Given the description of an element on the screen output the (x, y) to click on. 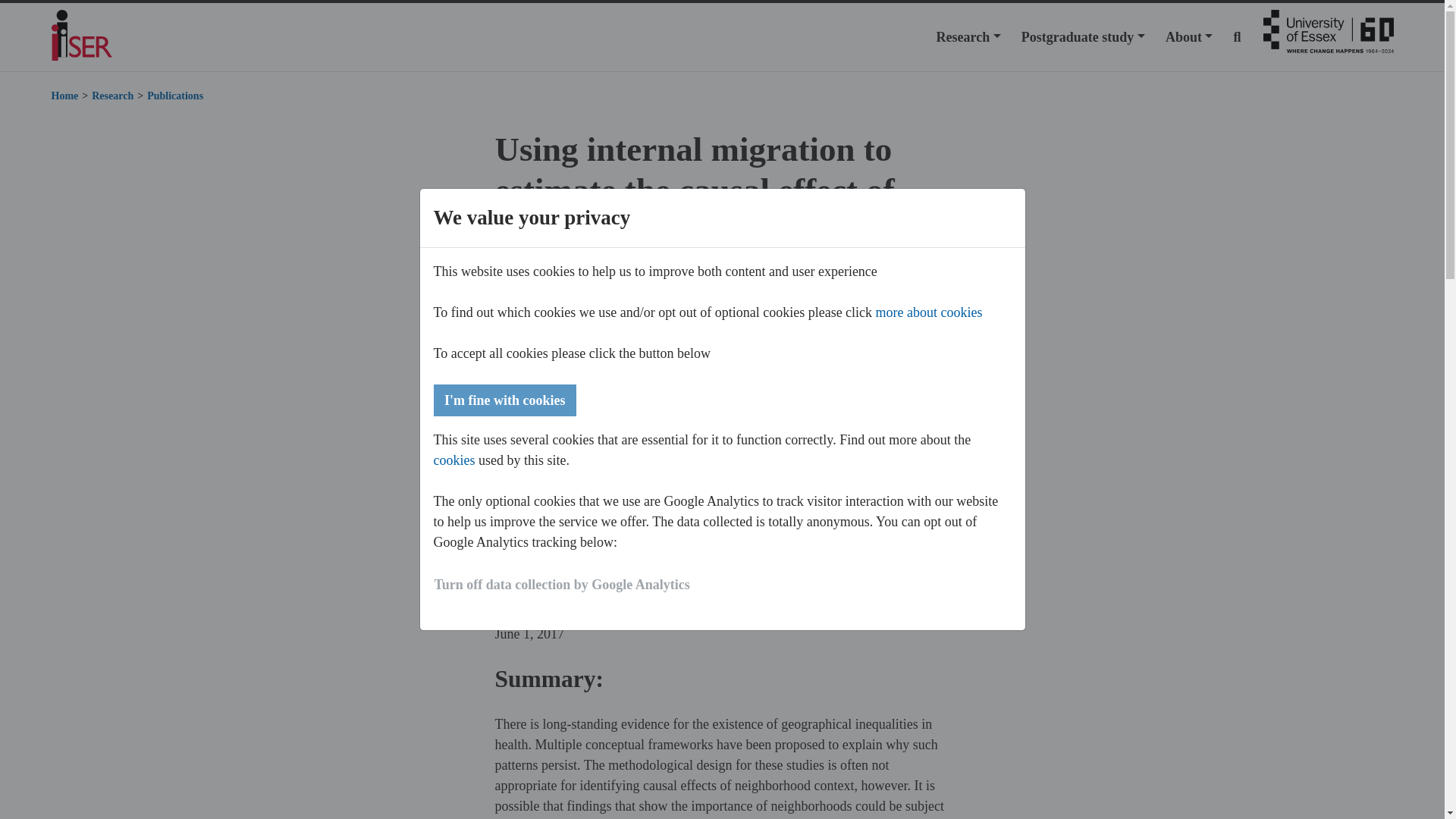
Research (968, 36)
Research (112, 95)
Publications (175, 95)
Home (64, 95)
Postgraduate study (1082, 36)
Postgraduate study (1082, 36)
About (1189, 36)
Mark A. Green (535, 544)
S.V. Subramanian (745, 544)
Research (968, 36)
